Given the description of an element on the screen output the (x, y) to click on. 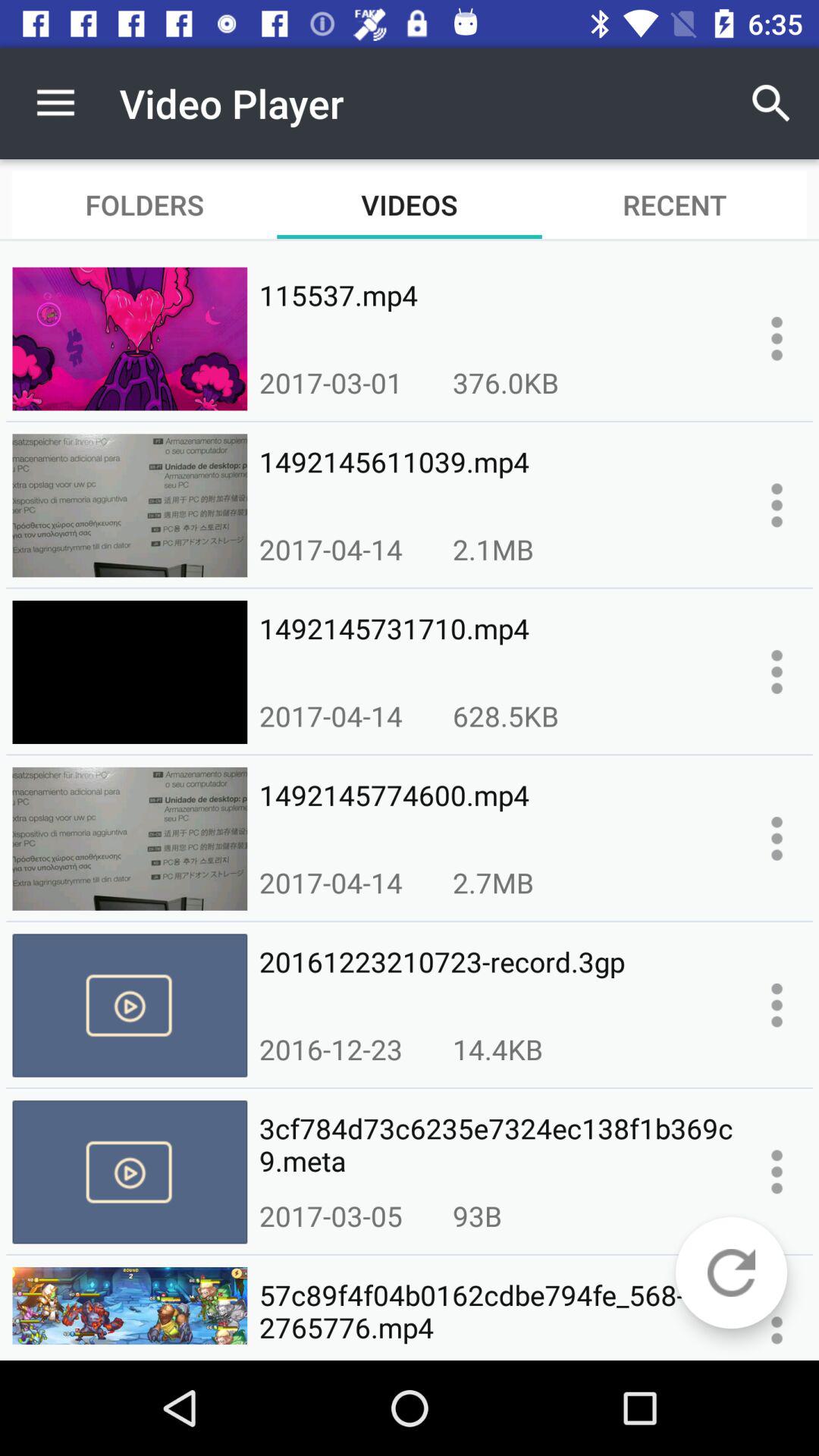
open context menu (776, 338)
